Given the description of an element on the screen output the (x, y) to click on. 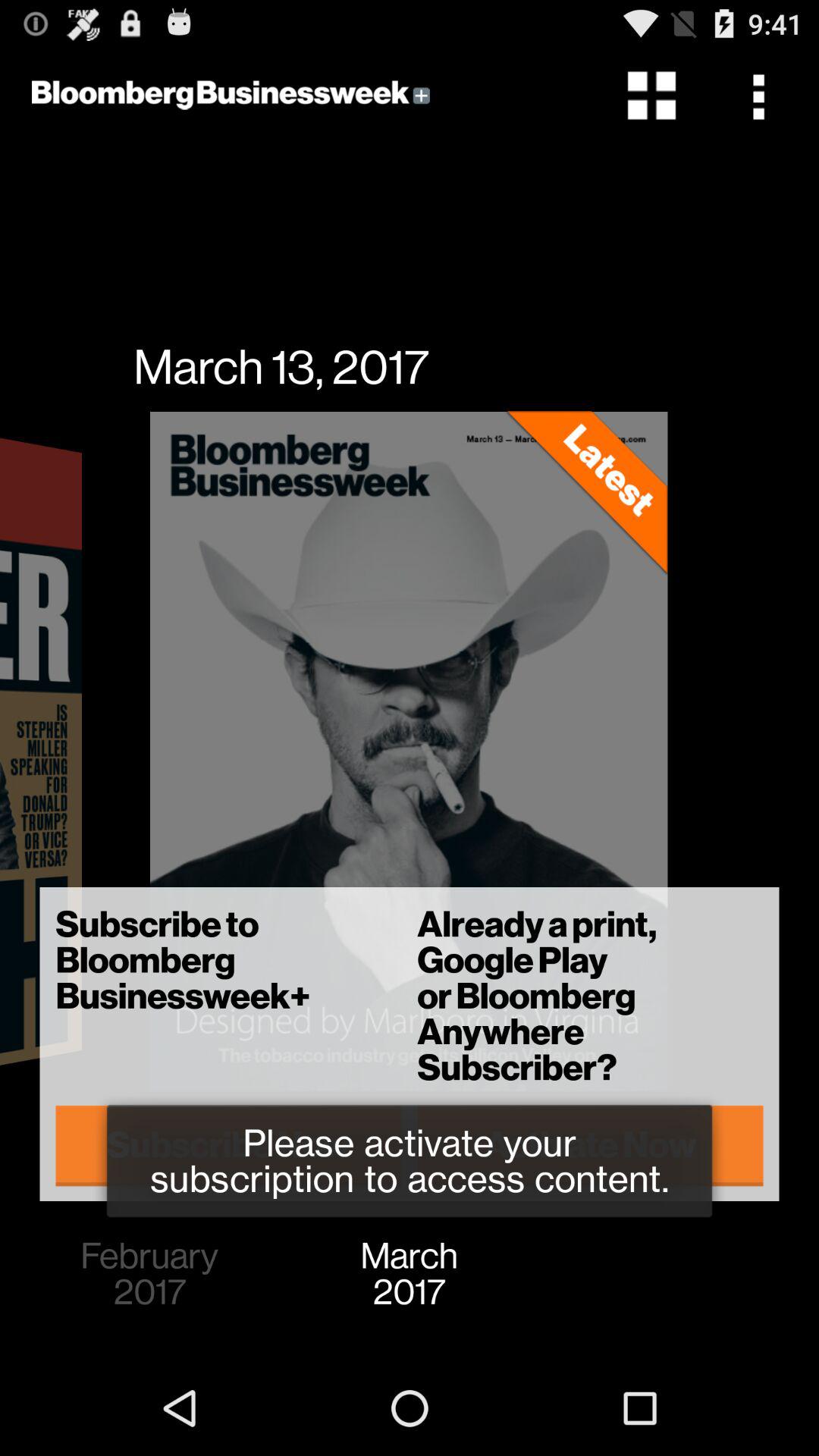
click the item next to the march
2017 item (149, 1273)
